Given the description of an element on the screen output the (x, y) to click on. 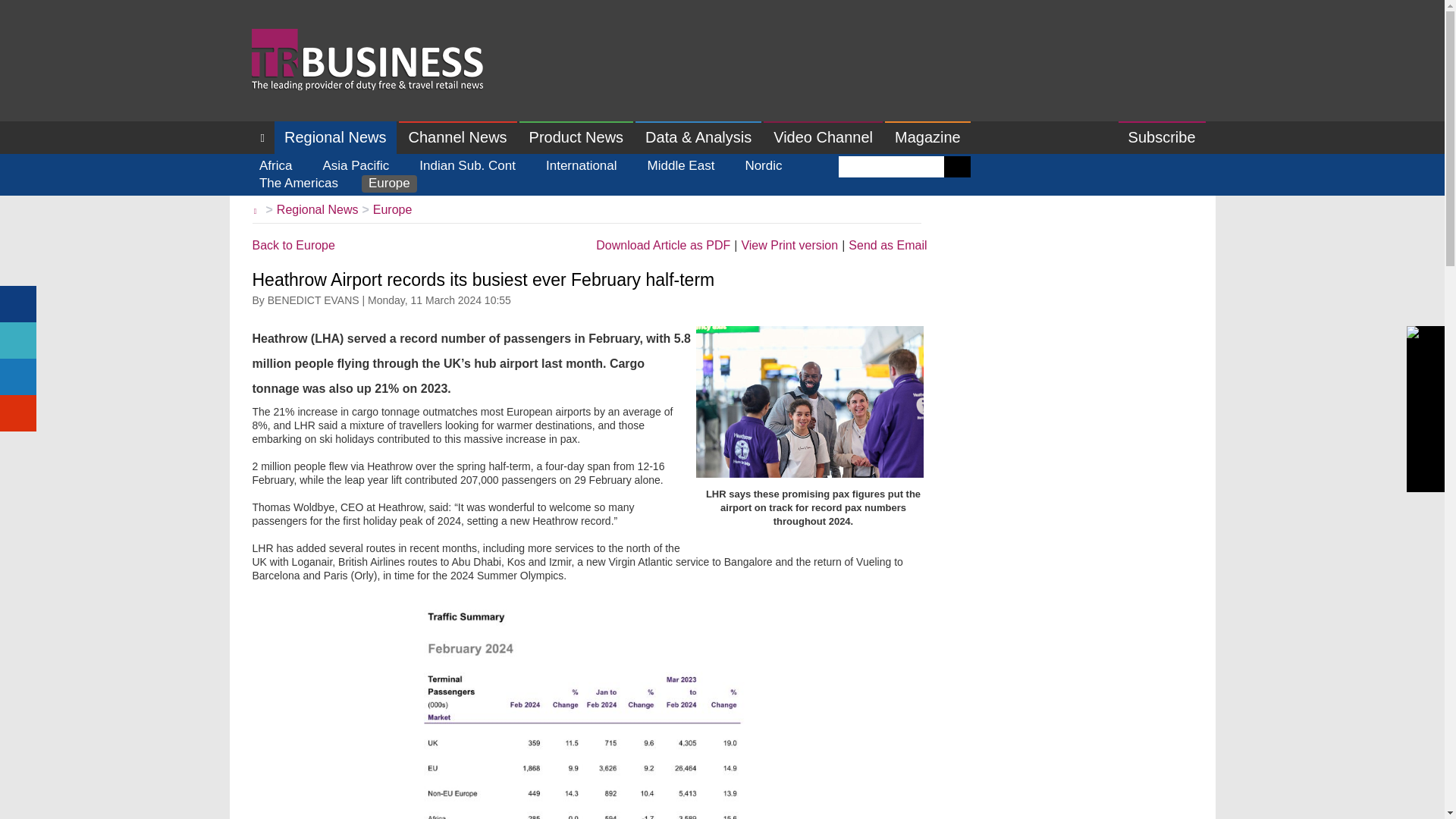
Search (957, 166)
Europe (392, 209)
Regional News (317, 209)
Search for: (890, 166)
Asia Pacific (355, 166)
Channel News (457, 137)
Send as Email (887, 245)
Search (957, 166)
Regional News (335, 137)
Search (957, 166)
Africa (274, 166)
The Americas (298, 183)
Nordic (763, 166)
